Given the description of an element on the screen output the (x, y) to click on. 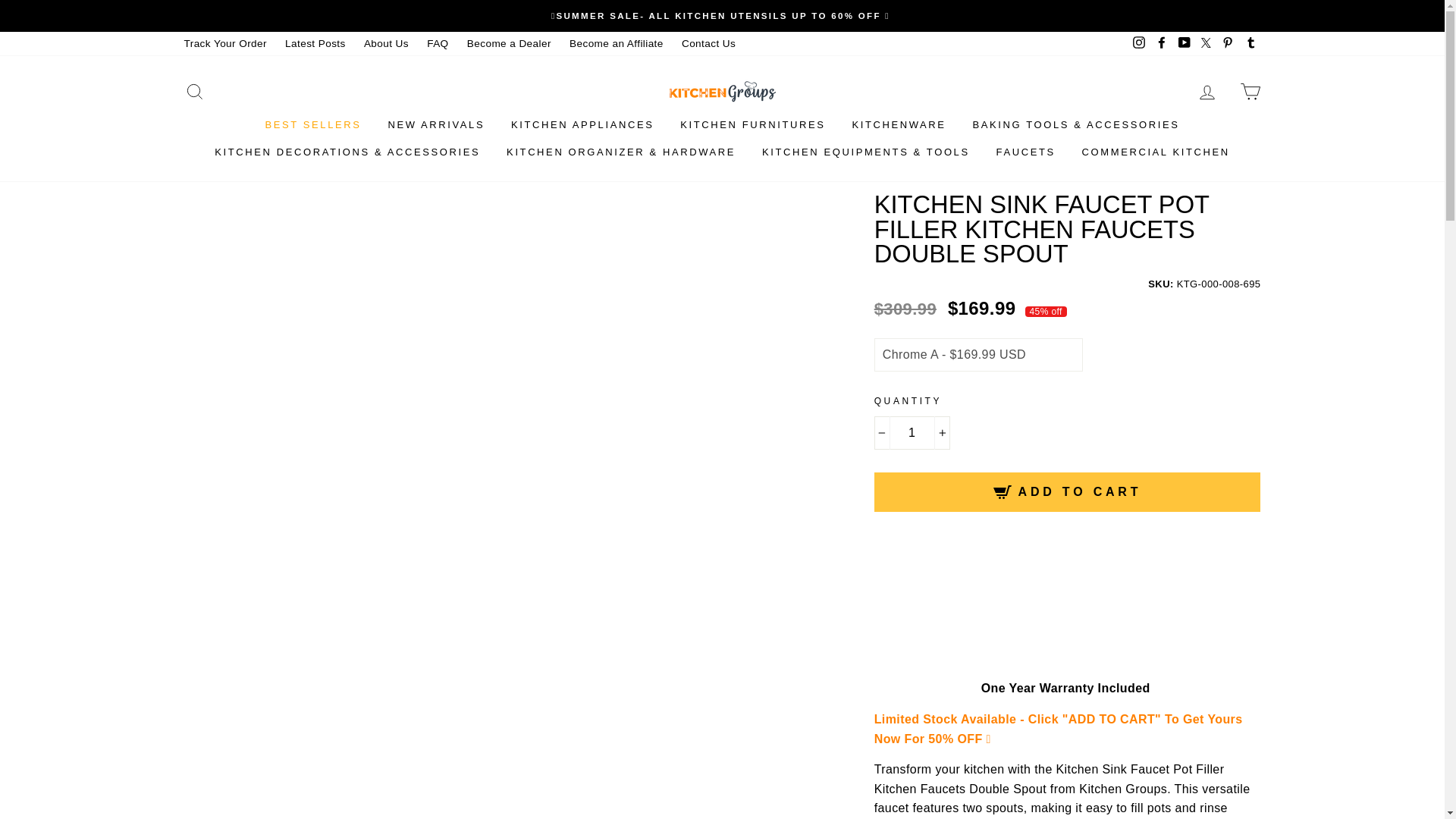
Kitchen Groups on Twitter (1205, 44)
Kitchen Groups on Tumblr (1250, 44)
Kitchen Groups on Pinterest (1227, 44)
Kitchen Groups on YouTube (1183, 44)
Kitchen Groups on Facebook (1161, 44)
1 (912, 432)
Kitchen Groups on Instagram (1138, 44)
